Given the description of an element on the screen output the (x, y) to click on. 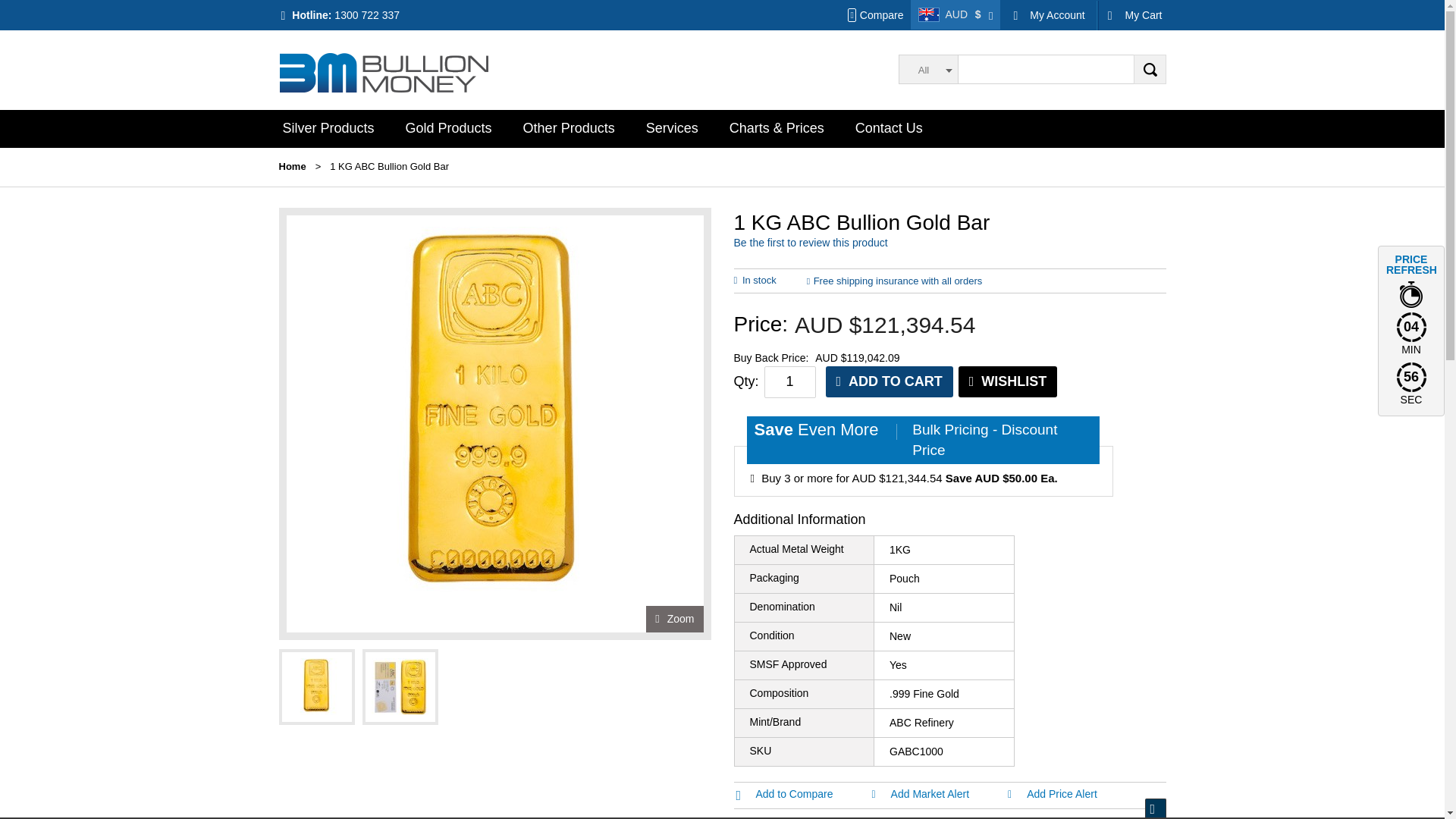
1 (789, 382)
My Cart (1131, 15)
My Account (1048, 15)
Silver Products (327, 127)
Go (1149, 69)
